Given the description of an element on the screen output the (x, y) to click on. 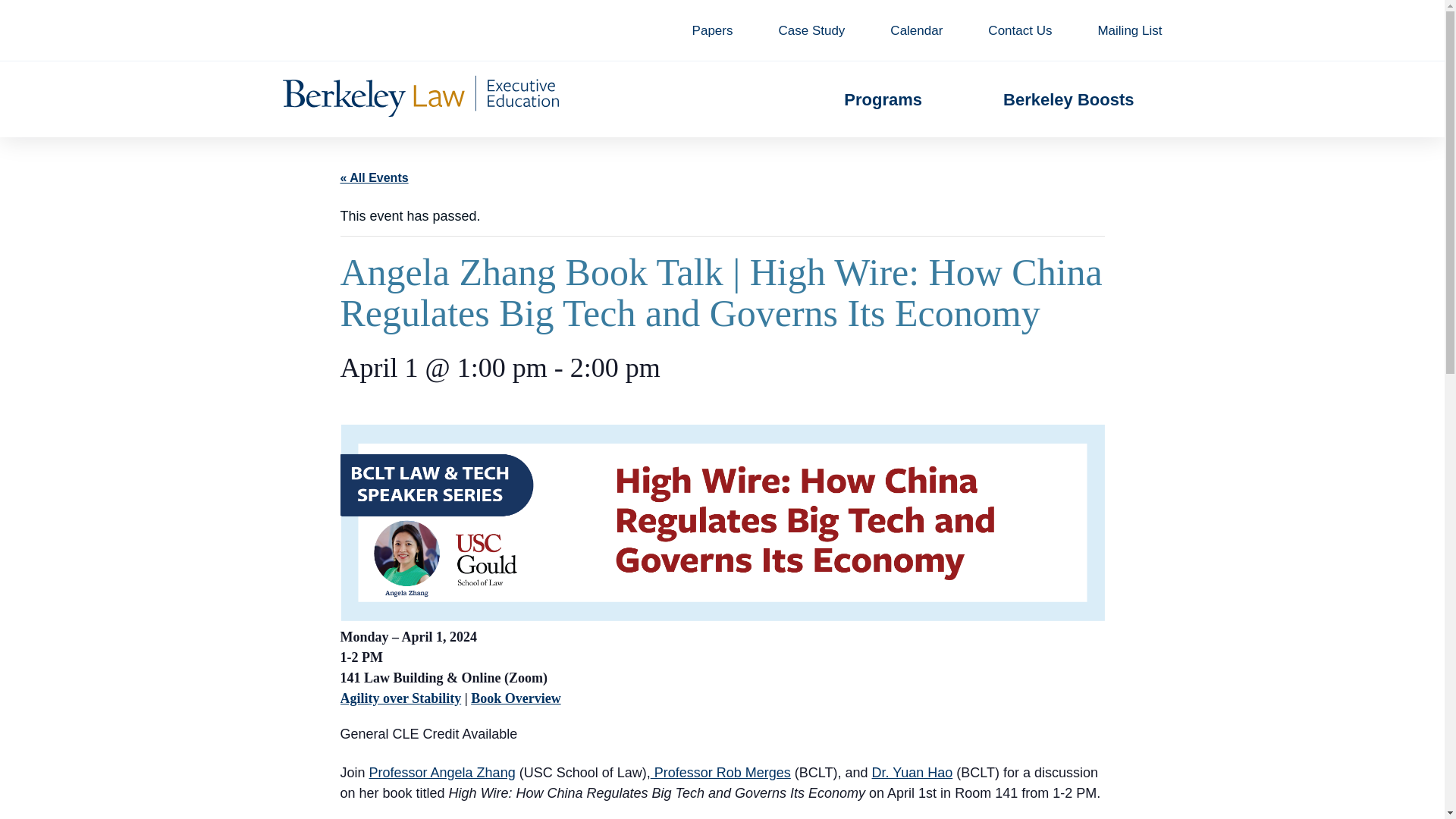
Contact Us (1019, 29)
Dr. Yuan Hao (912, 772)
Mailing List (1129, 29)
Book Overview (515, 698)
Case Study (810, 29)
Professor Rob Merges (720, 772)
Programs (882, 98)
Berkeley Boosts (1068, 98)
Professor Angela Zhang (442, 772)
Agility over Stability (400, 698)
Papers (713, 29)
Calendar (915, 29)
